Given the description of an element on the screen output the (x, y) to click on. 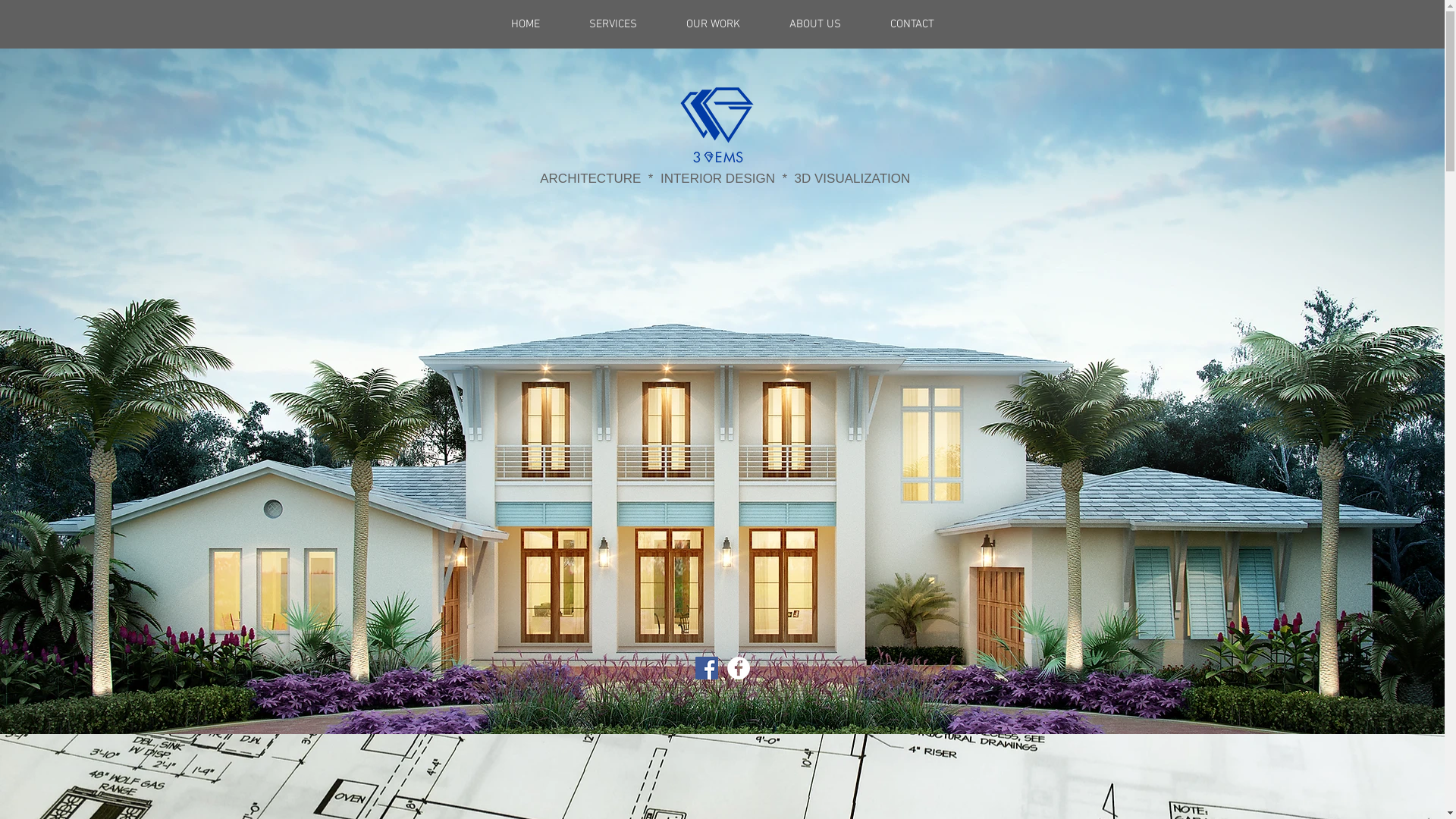
ABOUT US Element type: text (814, 24)
HOME Element type: text (525, 24)
CONTACT Element type: text (912, 24)
OUR WORK Element type: text (712, 24)
SERVICES Element type: text (612, 24)
